Given the description of an element on the screen output the (x, y) to click on. 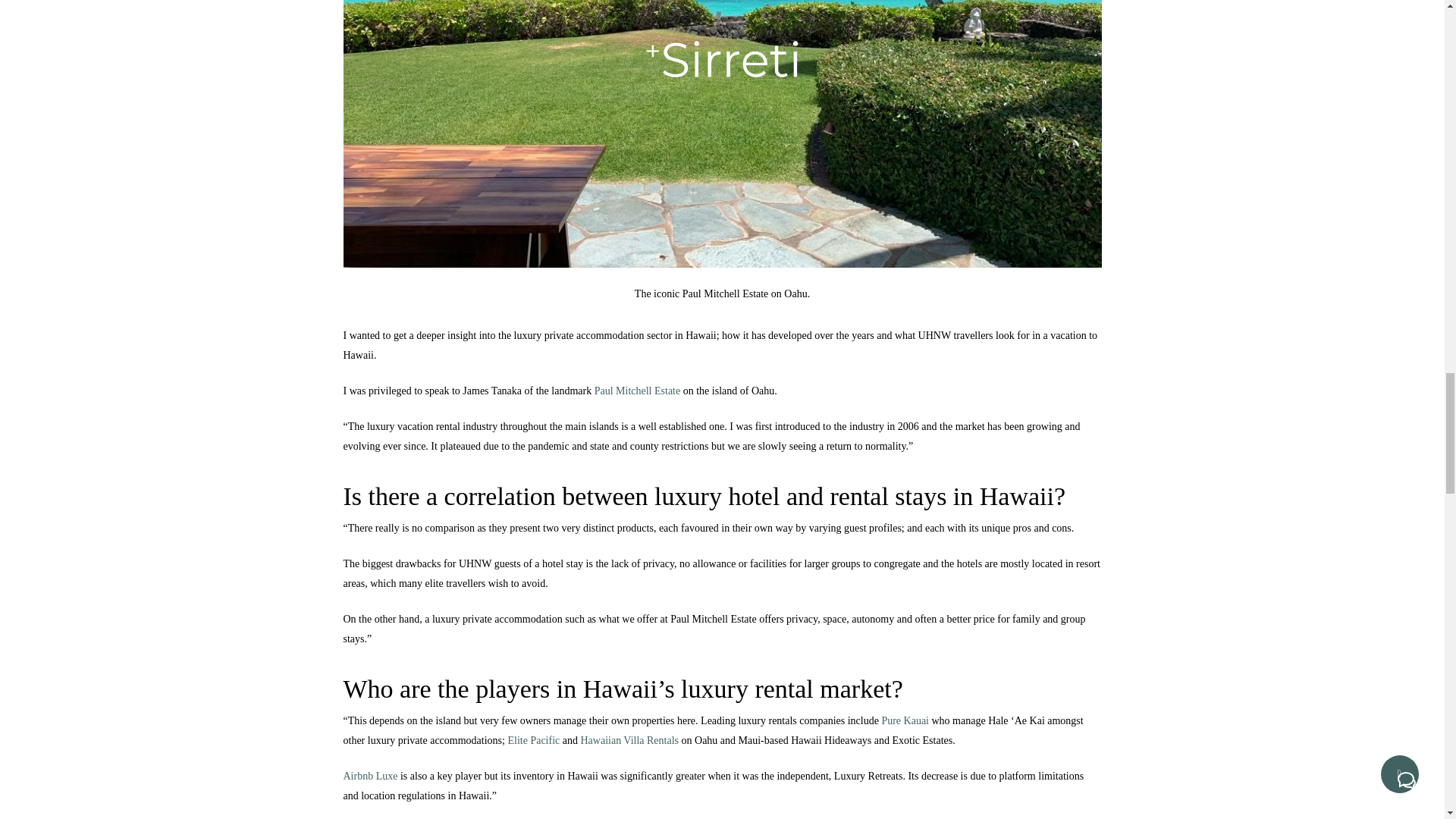
Hawaiian Villa Rentals (628, 740)
Pure Kauai (904, 720)
Paul Mitchell Estate (637, 390)
Airbnb Luxe (369, 776)
Elite Pacific (532, 740)
